Given the description of an element on the screen output the (x, y) to click on. 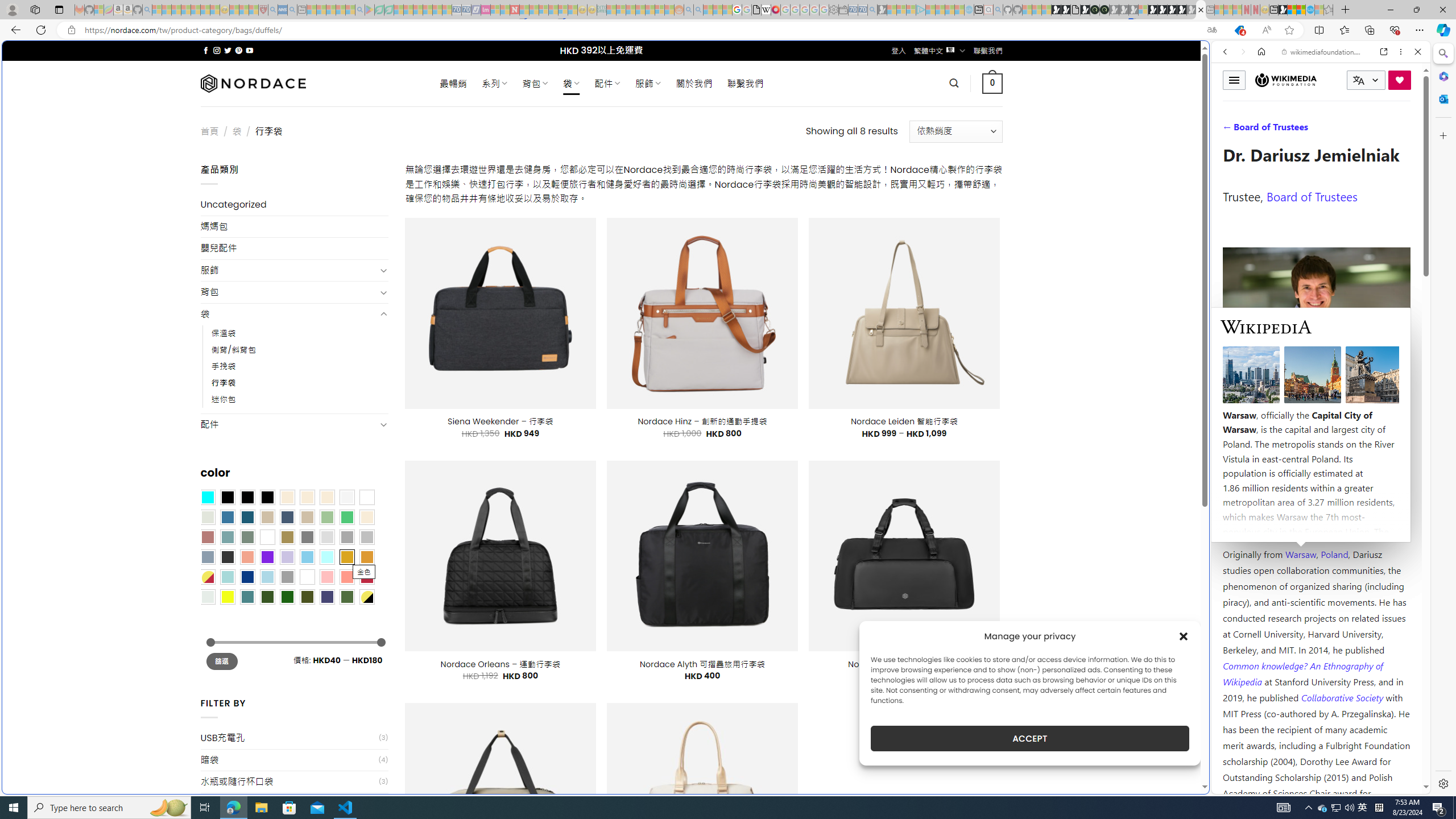
Wikimedia Foundation (1285, 79)
Follow on Instagram (216, 50)
Services - Maintenance | Sky Blue Bikes - Sky Blue Bikes (1309, 9)
Toggle menu (1233, 80)
